Given the description of an element on the screen output the (x, y) to click on. 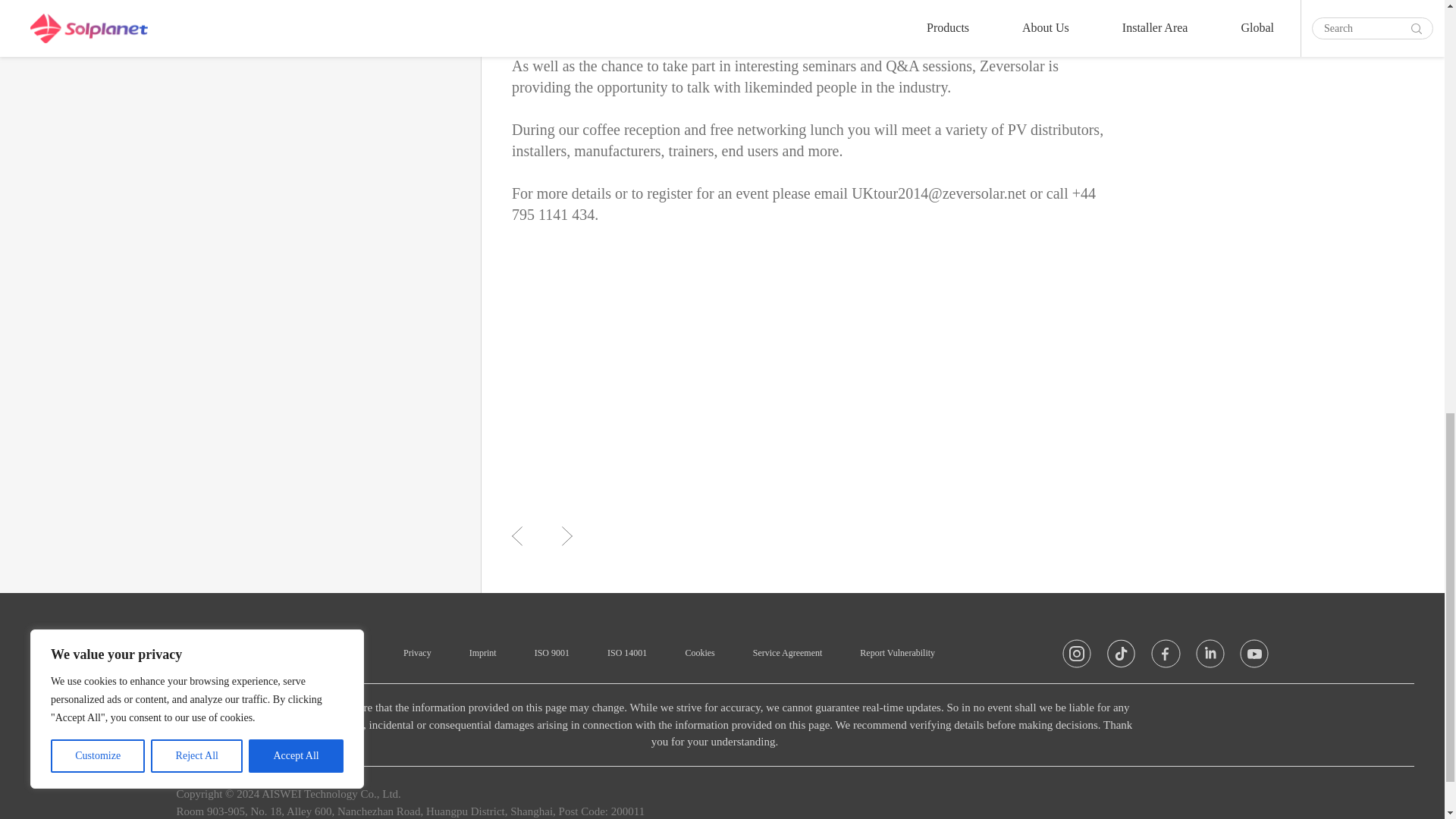
youtube (1253, 657)
instagram (1075, 657)
linkedin (1209, 657)
tiktok (1119, 657)
facebook (1165, 657)
